Given the description of an element on the screen output the (x, y) to click on. 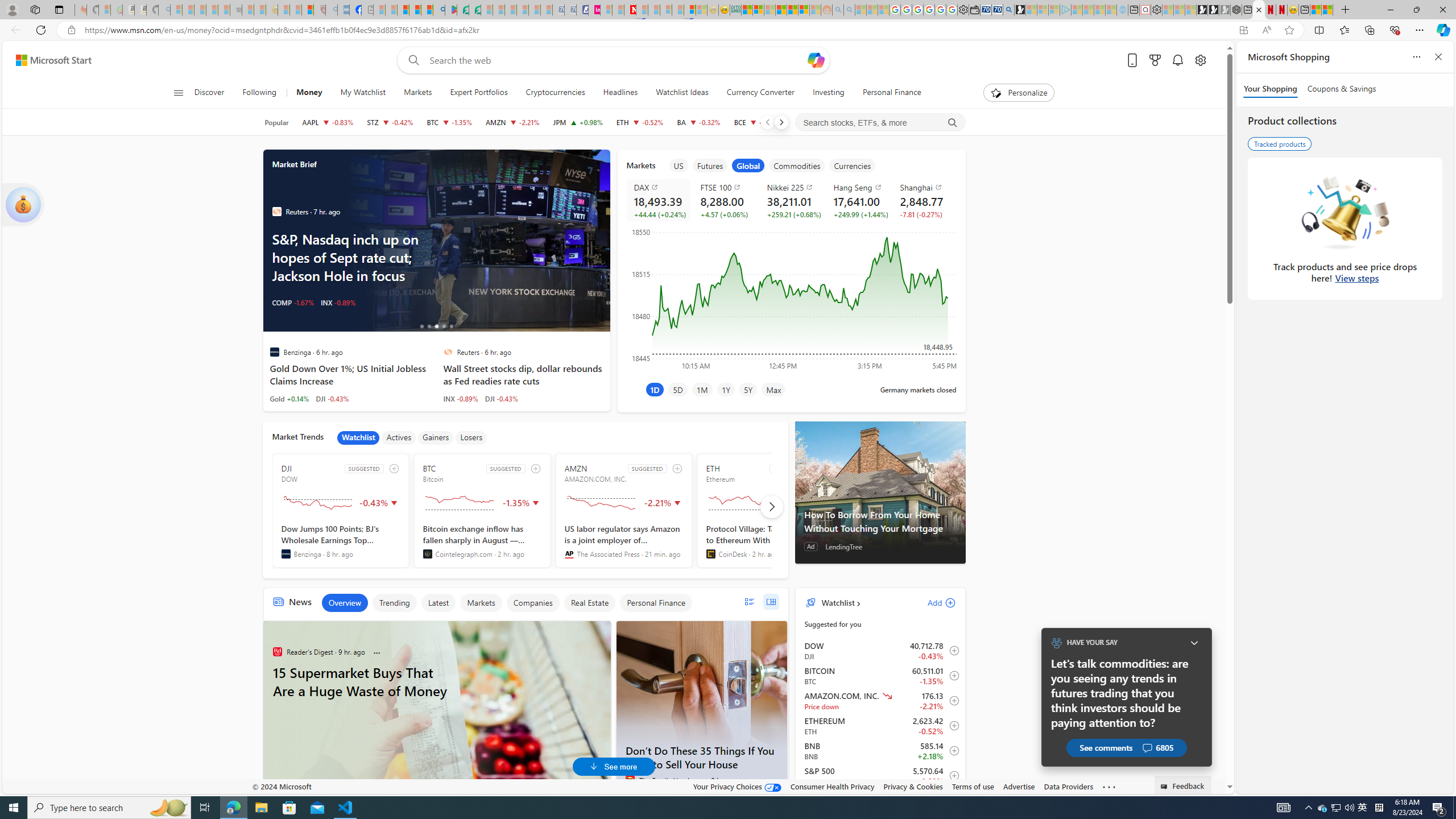
Enter your search term (617, 59)
BCE BCE Inc decrease 34.55 -0.07 -0.20% (756, 122)
AdChoices (601, 626)
